Given the description of an element on the screen output the (x, y) to click on. 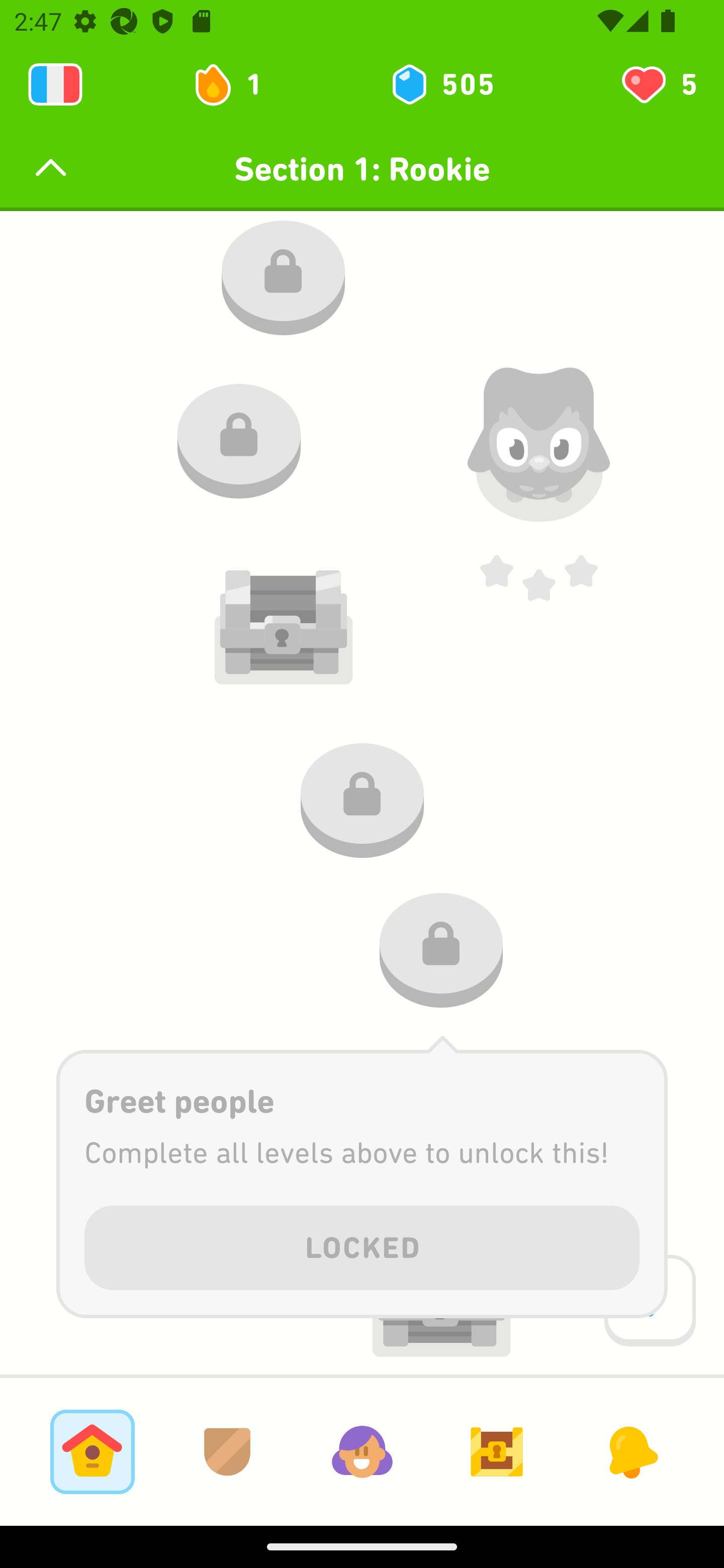
Learning 2131888976 (55, 84)
1 day streak 1 (236, 84)
505 (441, 84)
You have 5 hearts left 5 (657, 84)
Section 1: Rookie (362, 169)
LOCKED (361, 1243)
Learn Tab (91, 1451)
Leagues Tab (227, 1451)
Profile Tab (361, 1451)
Goals Tab (496, 1451)
News Tab (631, 1451)
